Given the description of an element on the screen output the (x, y) to click on. 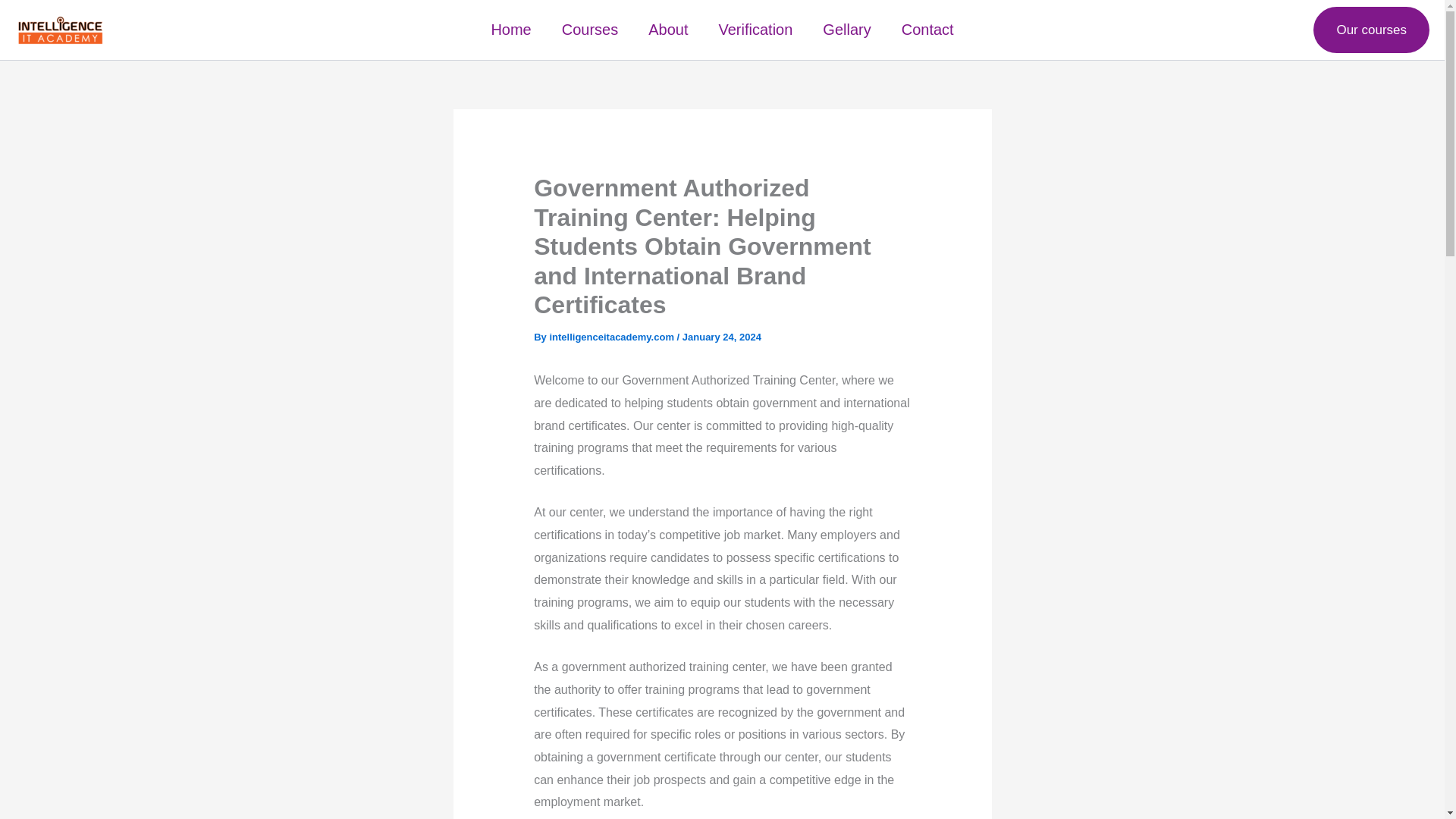
Verification (755, 29)
Gellary (846, 29)
About (668, 29)
Our courses (1371, 30)
View all posts by intelligenceitacademy.com (612, 337)
Courses (590, 29)
Contact (927, 29)
Home (511, 29)
intelligenceitacademy.com (612, 337)
